Given the description of an element on the screen output the (x, y) to click on. 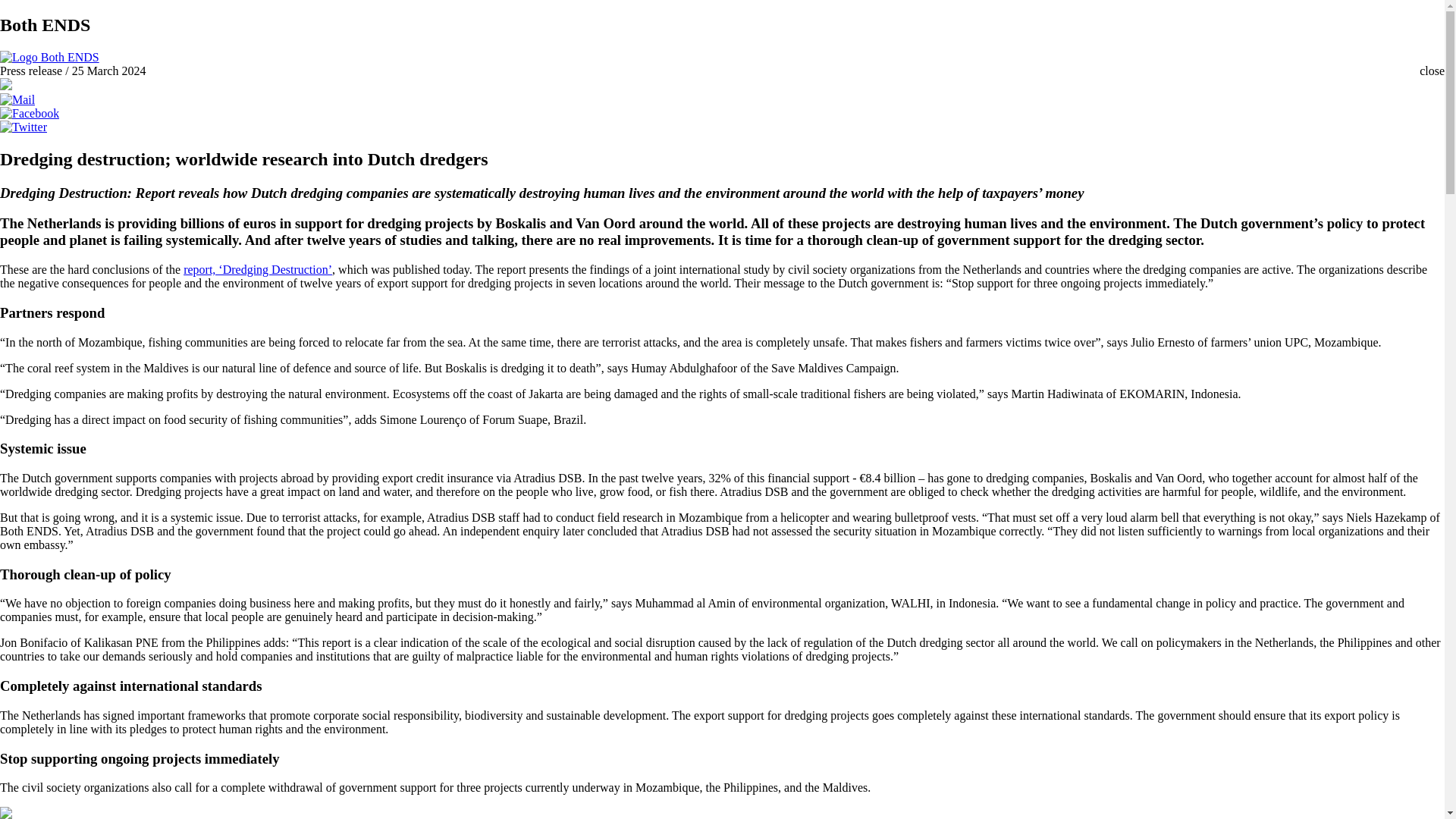
Delen via Twitter (23, 126)
Delen via Facebook (29, 113)
